Given the description of an element on the screen output the (x, y) to click on. 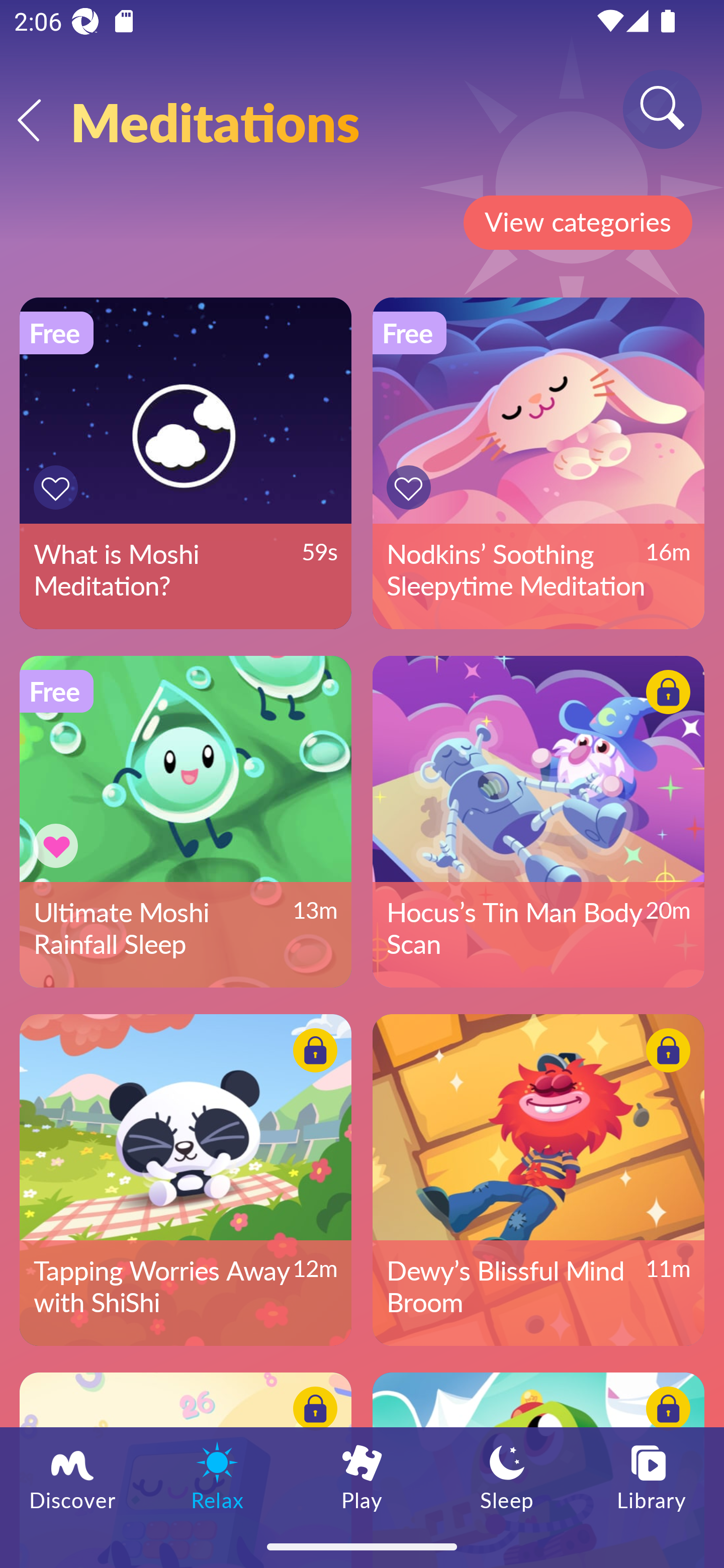
View categories (577, 222)
Button (58, 487)
Button (411, 487)
Button (665, 694)
Button (58, 844)
Button (311, 1053)
Button (665, 1053)
Button (311, 1411)
Button (665, 1411)
Discover (72, 1475)
Play (361, 1475)
Sleep (506, 1475)
Library (651, 1475)
